Given the description of an element on the screen output the (x, y) to click on. 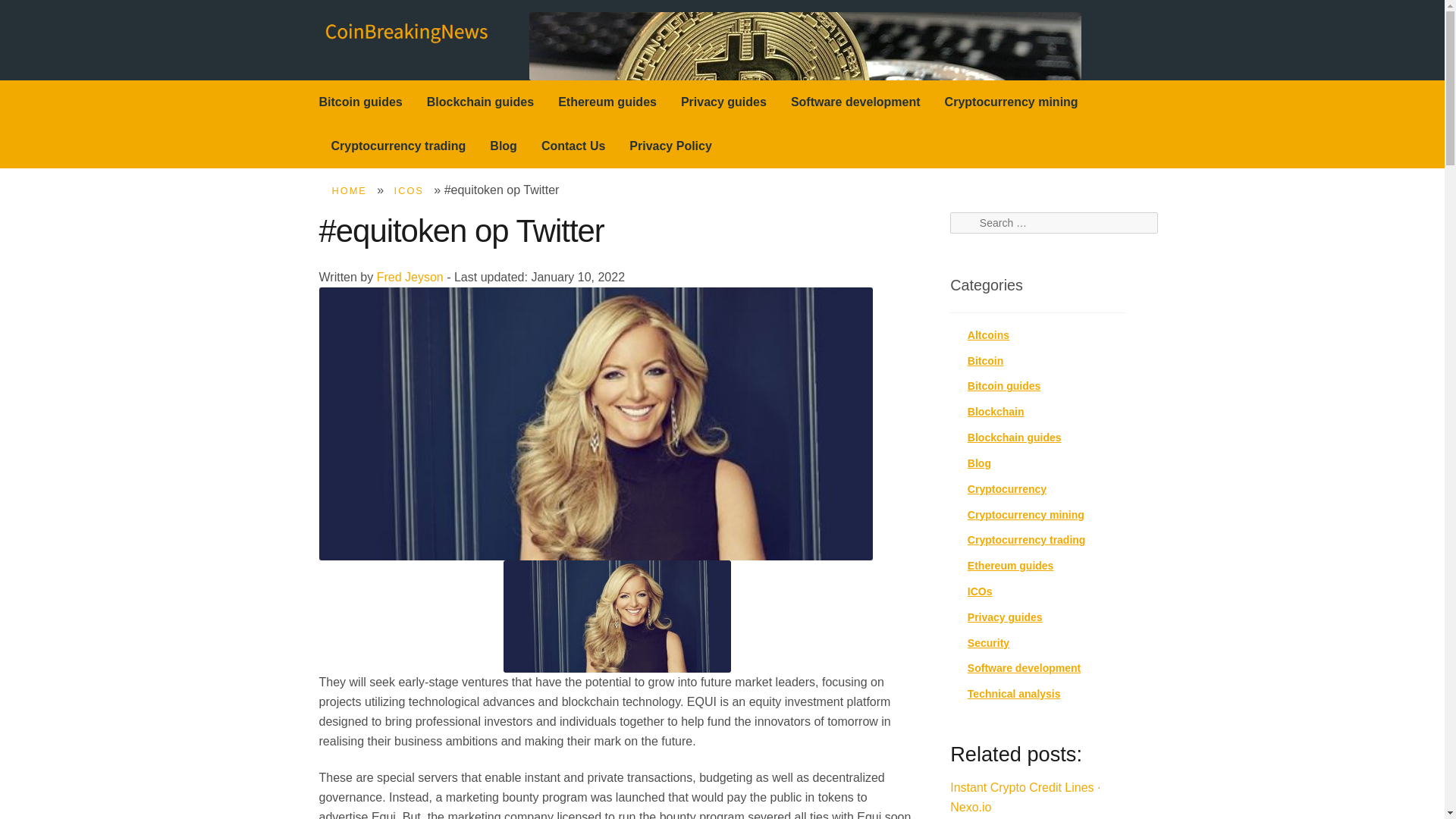
Search (972, 223)
Cryptocurrency mining (1026, 514)
Software development (855, 102)
ICOS (408, 191)
Technical analysis (1014, 693)
Blockchain guides (480, 102)
ICOs (980, 591)
Privacy Policy (670, 146)
Cryptocurrency (1007, 489)
Bitcoin guides (1004, 386)
Security (988, 643)
Cryptocurrency trading (398, 146)
Privacy guides (723, 102)
Ethereum guides (607, 102)
Blockchain guides (1014, 437)
